Given the description of an element on the screen output the (x, y) to click on. 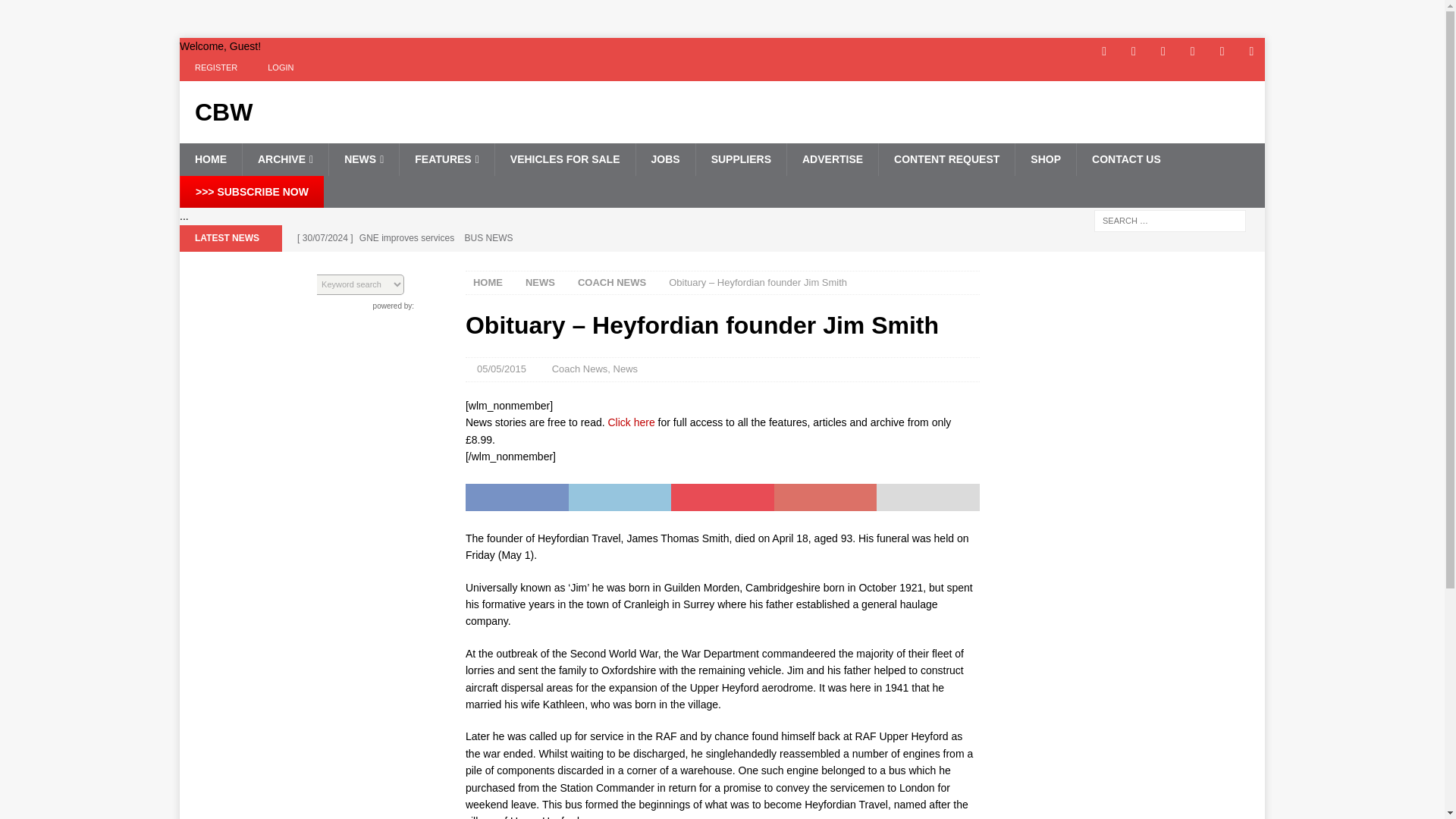
ARCHIVE (285, 159)
LOGIN (279, 67)
CONTENT REQUEST (945, 159)
ADVERTISE (831, 159)
FEATURES (446, 159)
CBW (351, 111)
HOME (210, 159)
JOBS (664, 159)
SUPPLIERS (740, 159)
CONTACT US (1125, 159)
